Given the description of an element on the screen output the (x, y) to click on. 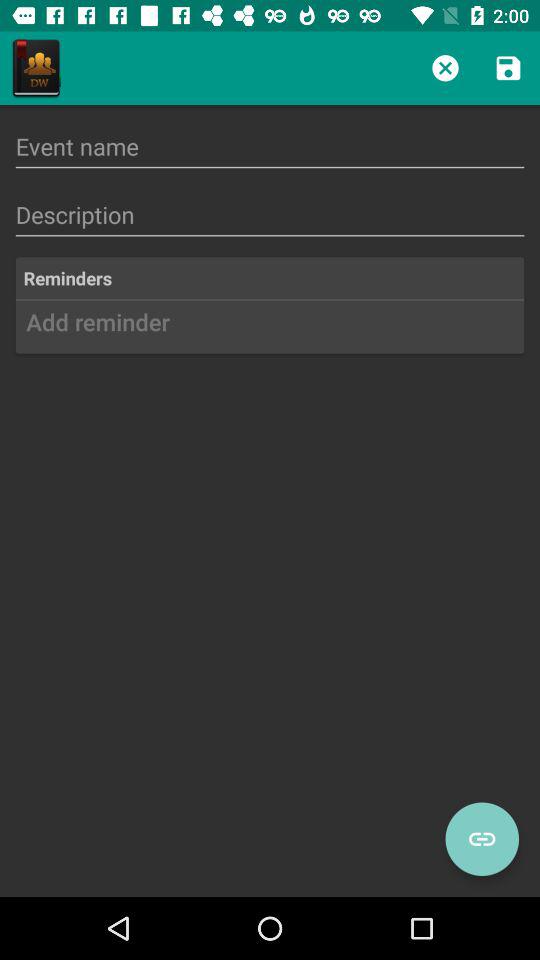
enter event name (269, 146)
